Given the description of an element on the screen output the (x, y) to click on. 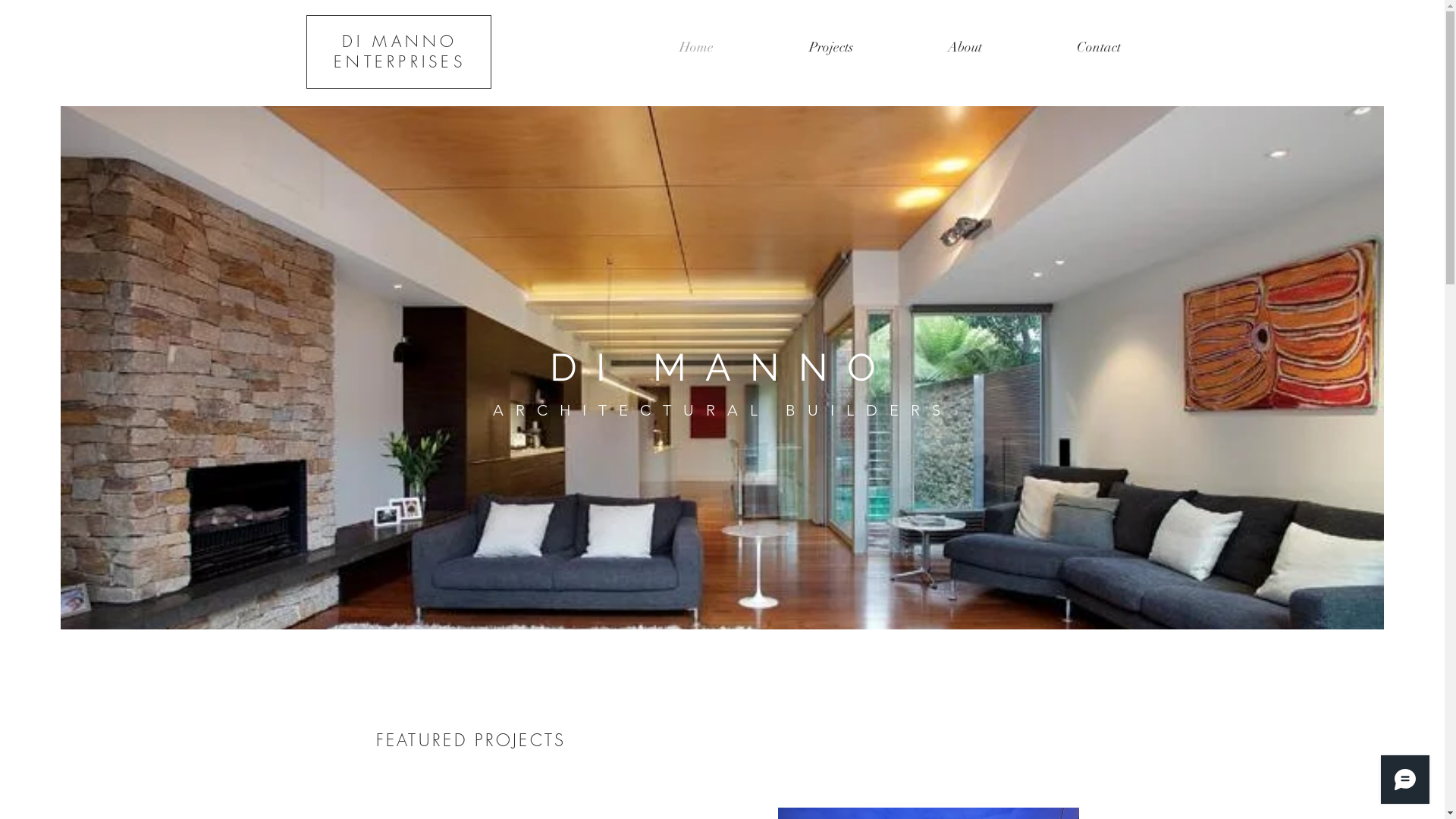
DI MANNO Element type: text (399, 41)
Home Element type: text (695, 46)
Projects Element type: text (830, 46)
Contact Element type: text (1098, 46)
About Element type: text (964, 46)
